Given the description of an element on the screen output the (x, y) to click on. 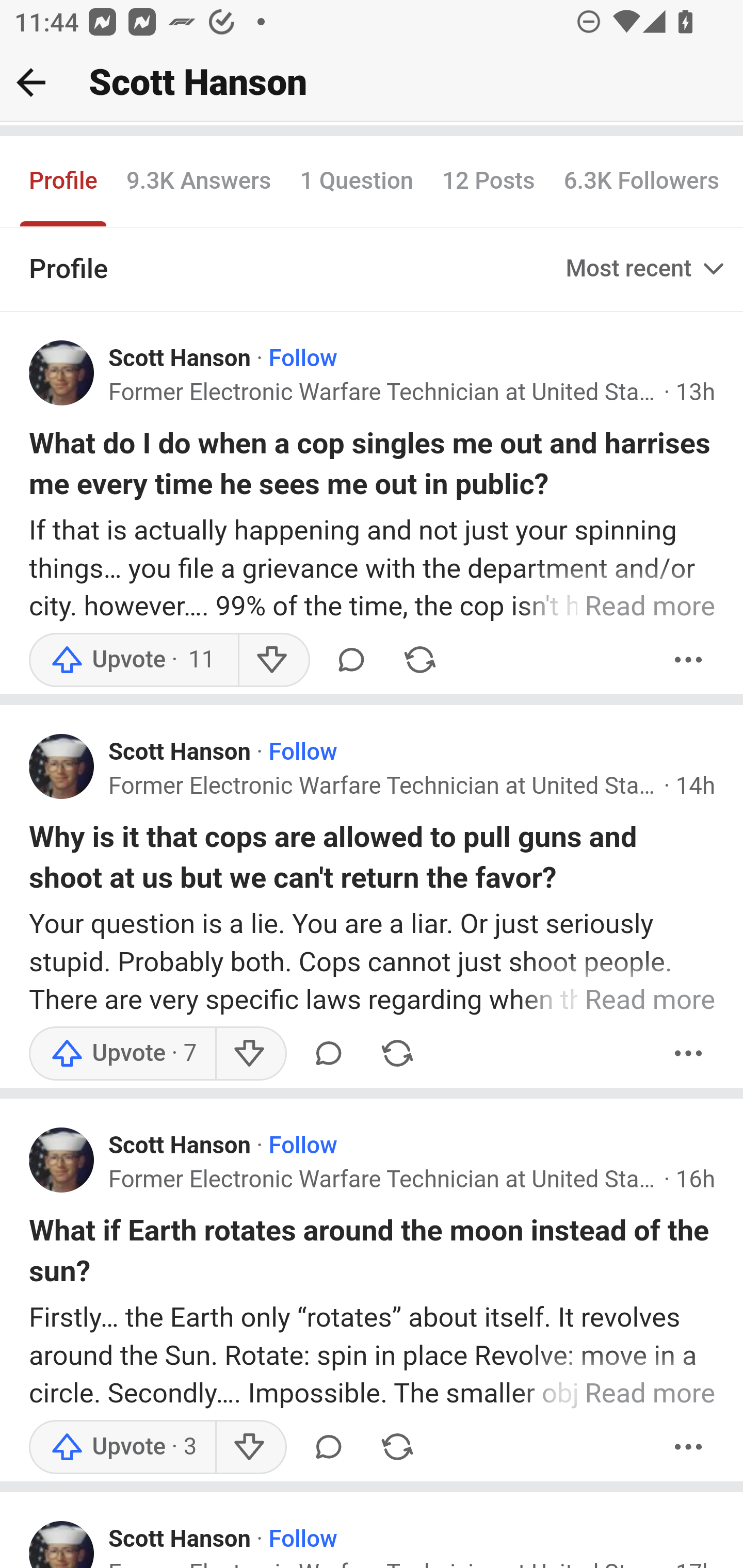
Back Scott Hanson (371, 82)
Back (30, 82)
Profile (63, 183)
9.3K Answers (197, 183)
1 Question (357, 183)
12 Posts (488, 183)
6.3K Followers (641, 183)
Most recent (647, 270)
Profile photo for Scott Hanson (61, 373)
Scott Hanson (180, 360)
Follow (302, 360)
13h 13 h (695, 394)
Upvote (133, 659)
Downvote (273, 659)
Comment (350, 659)
Share (419, 659)
More (688, 659)
Profile photo for Scott Hanson (61, 767)
Scott Hanson (180, 753)
Follow (302, 753)
14h 14 h (695, 787)
Upvote (122, 1053)
Downvote (249, 1053)
Comment (328, 1053)
Share (397, 1053)
More (688, 1053)
Profile photo for Scott Hanson (61, 1160)
Scott Hanson (180, 1147)
Follow (302, 1147)
16h 16 h (695, 1180)
Upvote (122, 1447)
Downvote (249, 1447)
Comment (328, 1447)
Share (397, 1447)
More (688, 1447)
Profile photo for Scott Hanson (61, 1544)
Scott Hanson (180, 1541)
Follow (302, 1541)
